Given the description of an element on the screen output the (x, y) to click on. 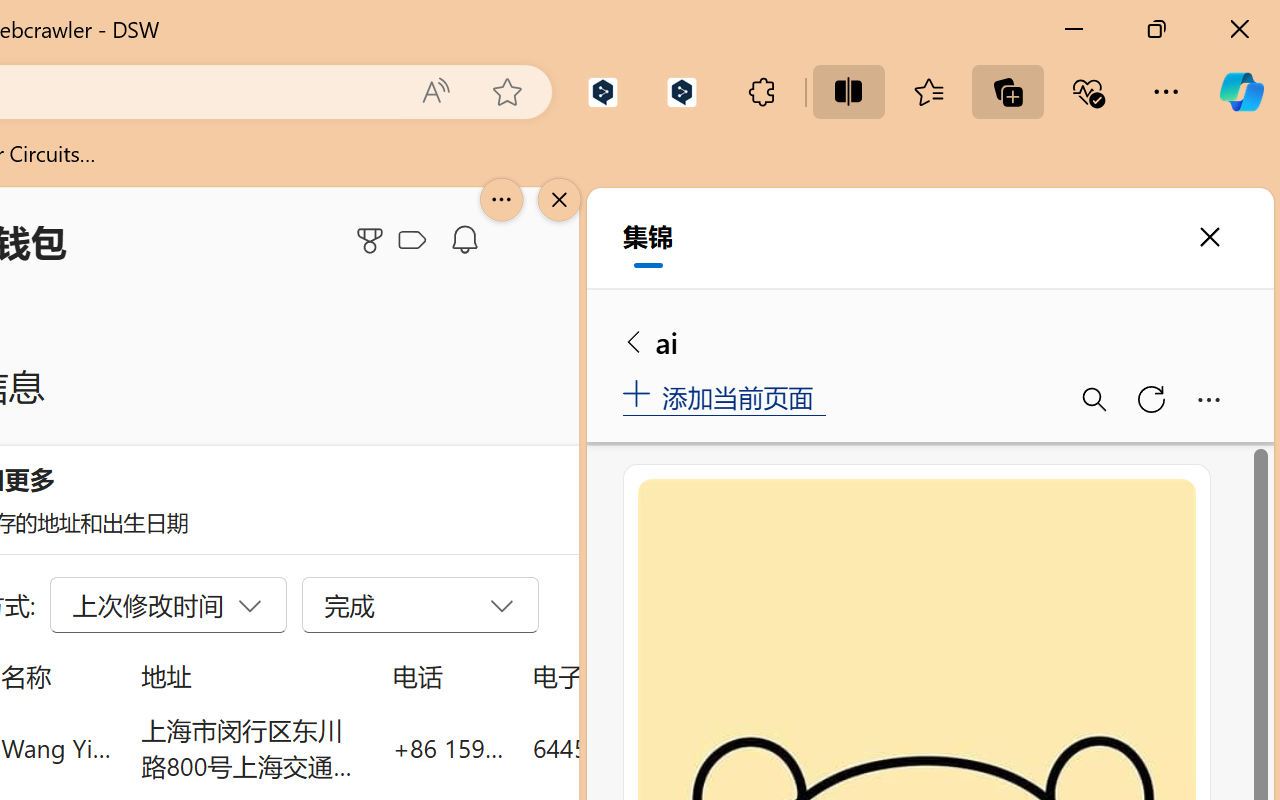
Class: ___1lmltc5 f1agt3bx f12qytpq (411, 241)
Microsoft Rewards (373, 240)
644553698@qq.com (644, 747)
